Given the description of an element on the screen output the (x, y) to click on. 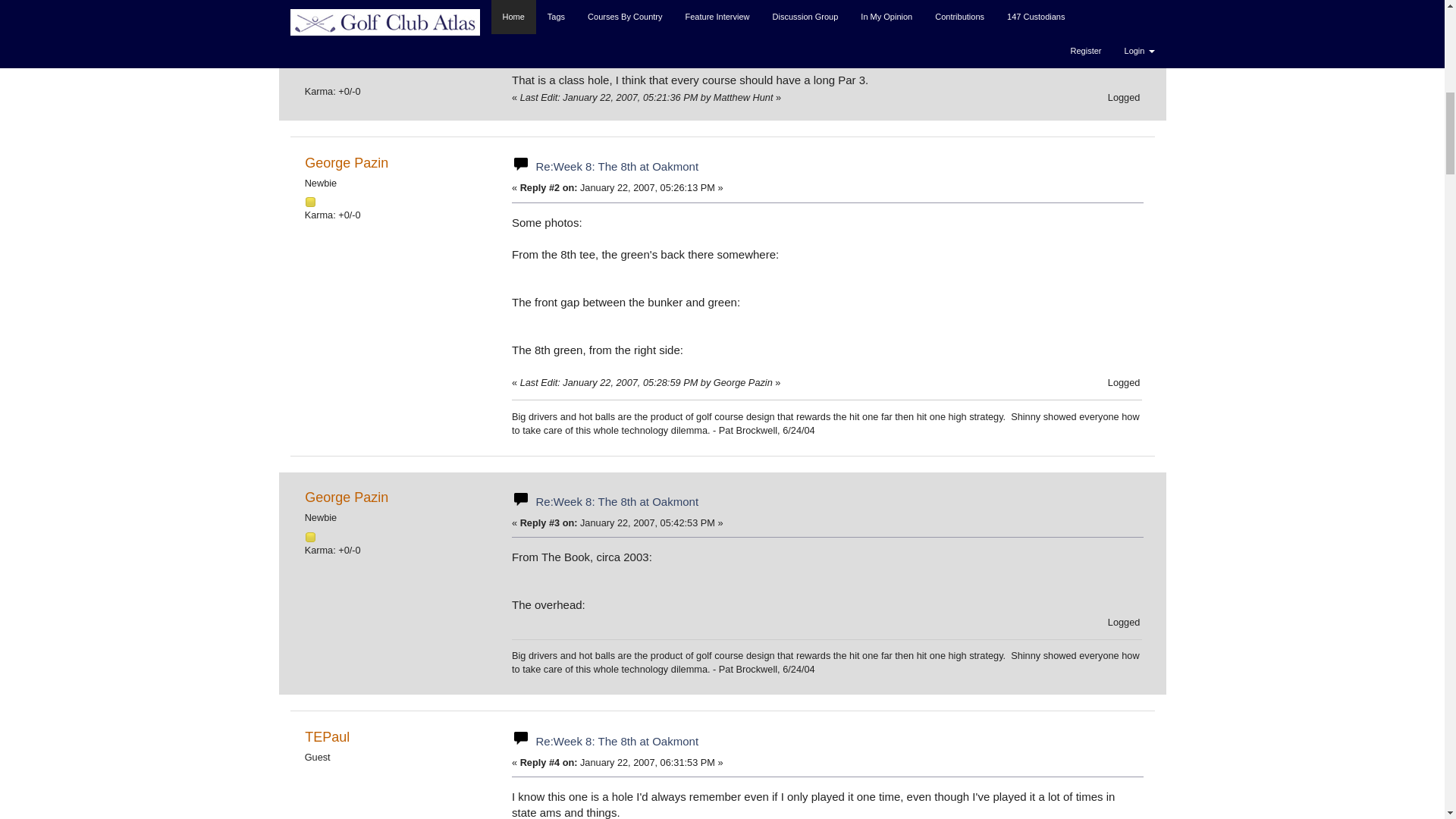
Re:Week 8: The 8th at Oakmont (616, 165)
Re:Week 8: The 8th at Oakmont (616, 24)
Re:Week 8: The 8th at Oakmont (616, 740)
Re:Week 8: The 8th at Oakmont (616, 501)
